Given the description of an element on the screen output the (x, y) to click on. 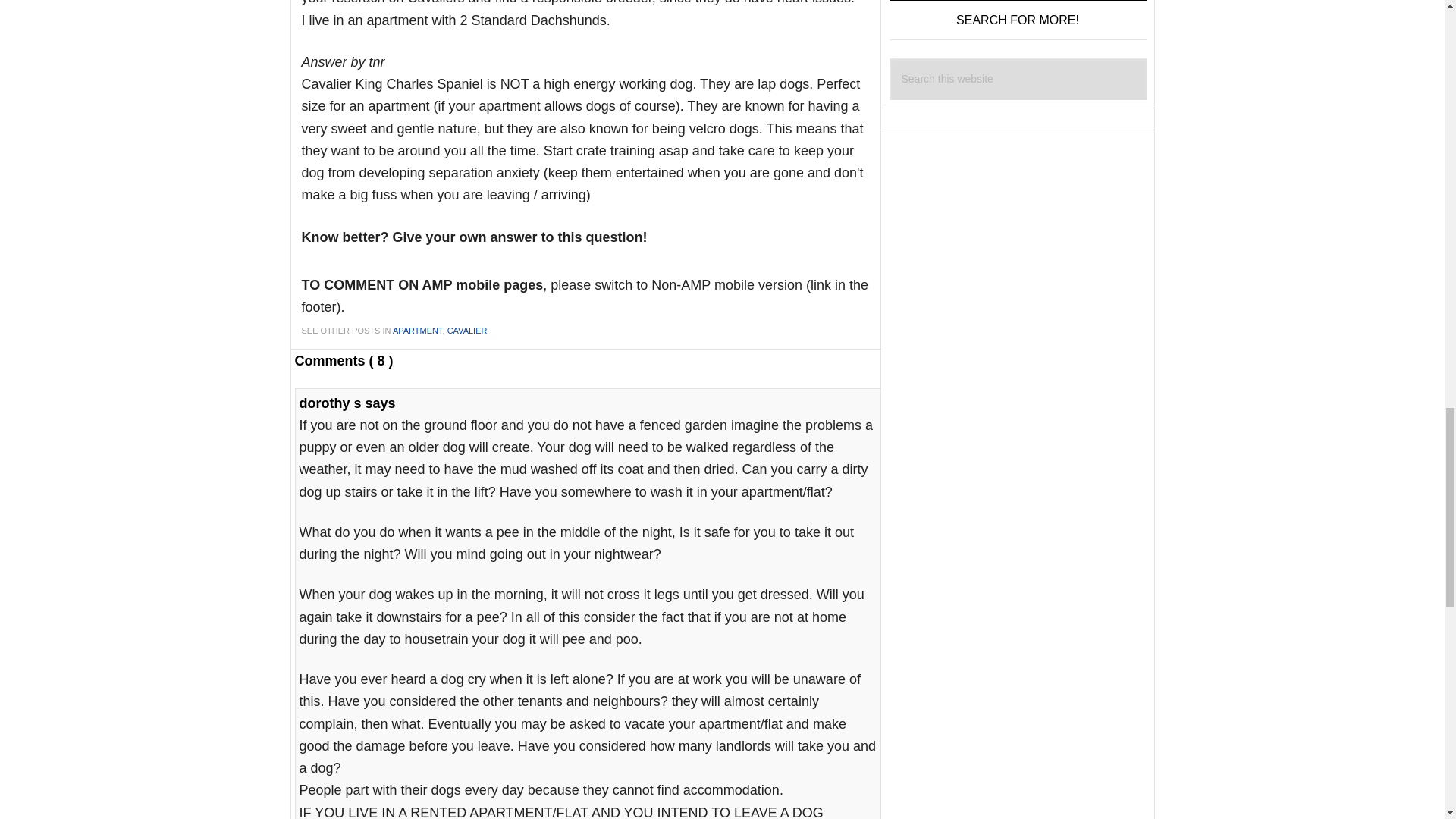
CAVALIER (466, 329)
APARTMENT (417, 329)
